Given the description of an element on the screen output the (x, y) to click on. 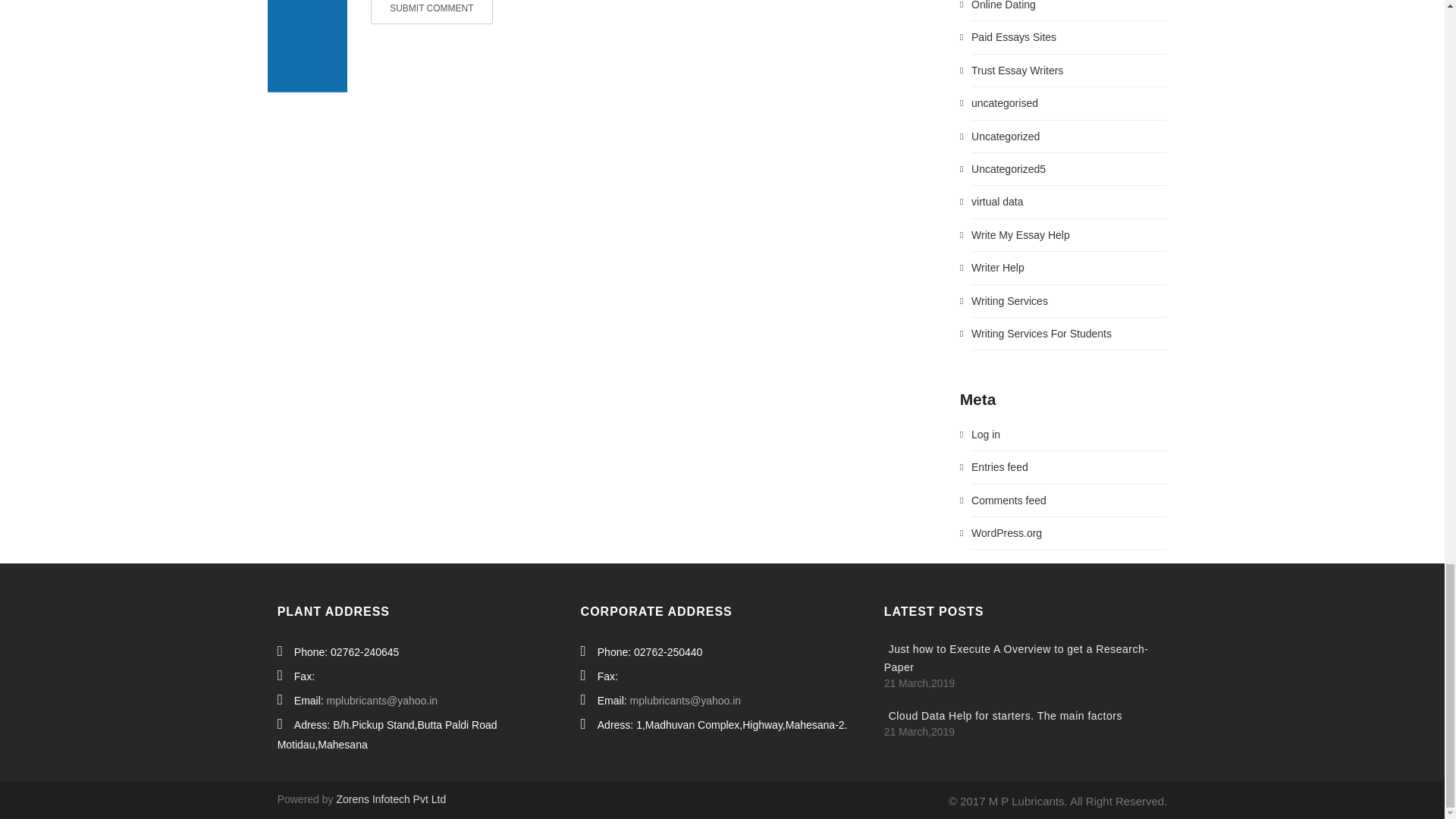
Submit Comment (432, 12)
Submit Comment (432, 12)
